Given the description of an element on the screen output the (x, y) to click on. 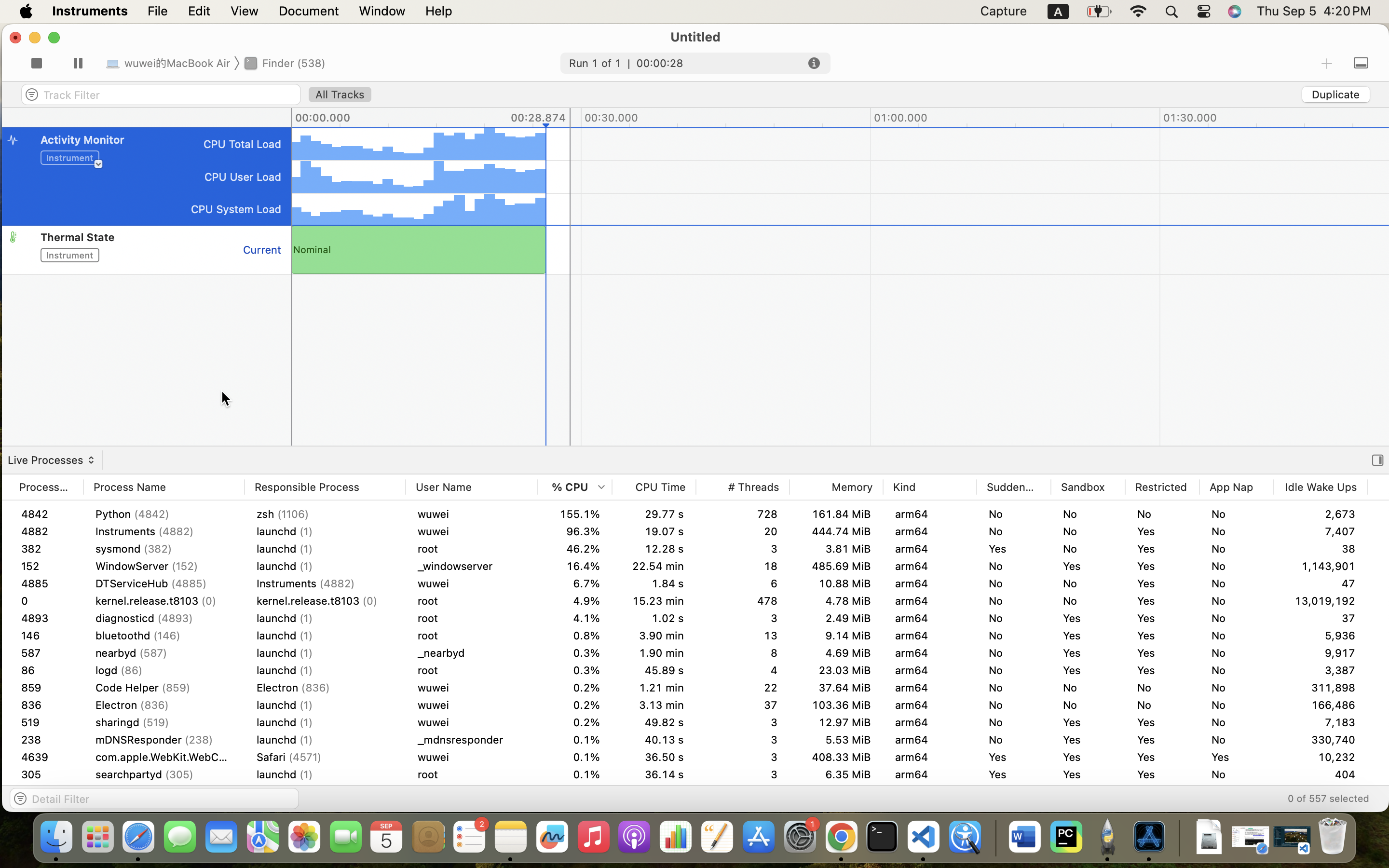
192 Element type: AXStaticText (742, 513)
10,199 Element type: AXStaticText (1320, 756)
root Element type: AXStaticText (471, 600)
searchpartyd (305) Element type: AXStaticText (163, 774)
0.9% Element type: AXStaticText (574, 774)
